Given the description of an element on the screen output the (x, y) to click on. 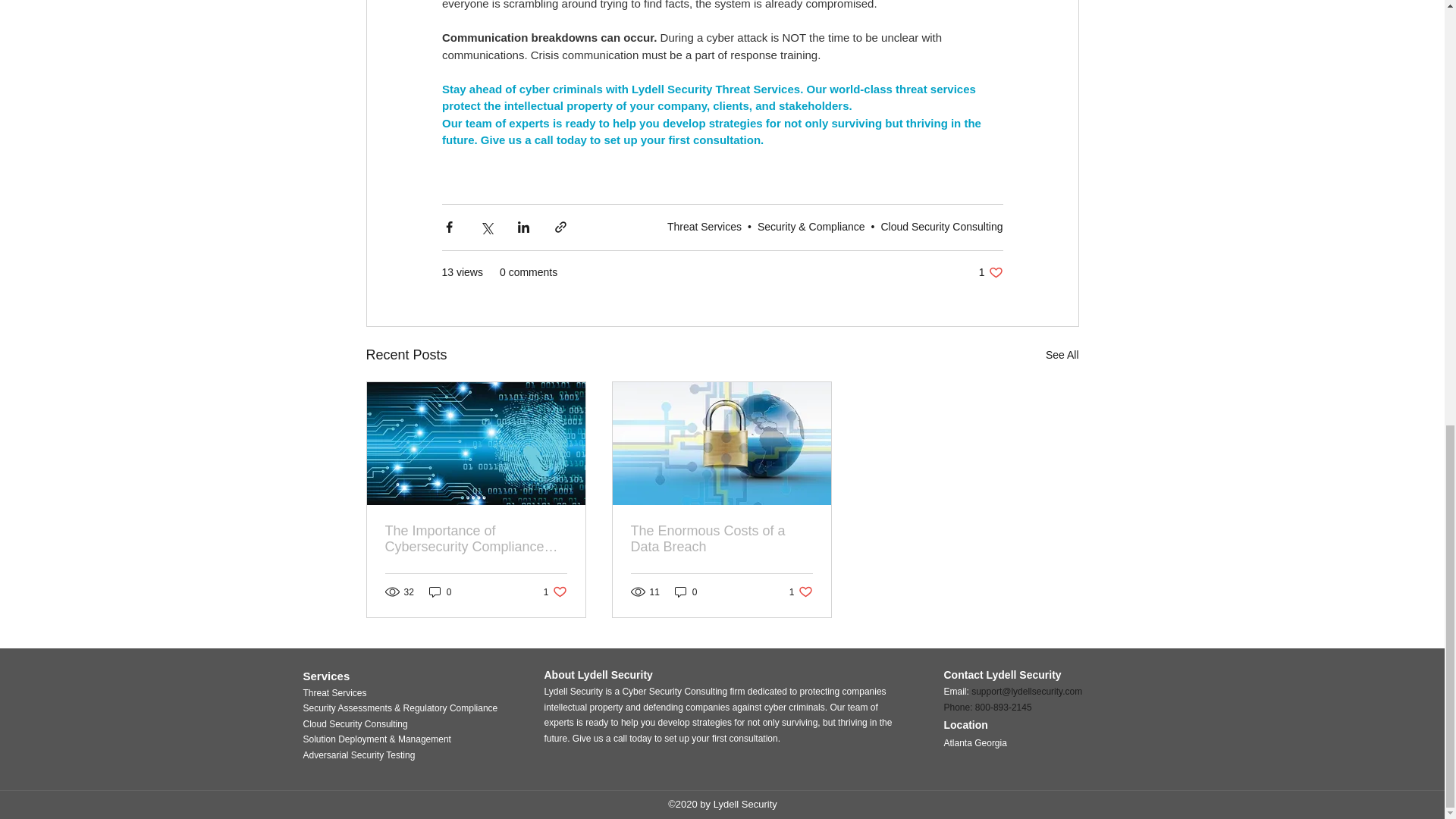
Threat Services (703, 226)
See All (1061, 354)
0 (685, 591)
Email: (957, 691)
Cloud Security Consulting (941, 226)
The Importance of Cybersecurity Compliance Training (555, 591)
0 (800, 591)
The Enormous Costs of a Data Breach (990, 272)
